Given the description of an element on the screen output the (x, y) to click on. 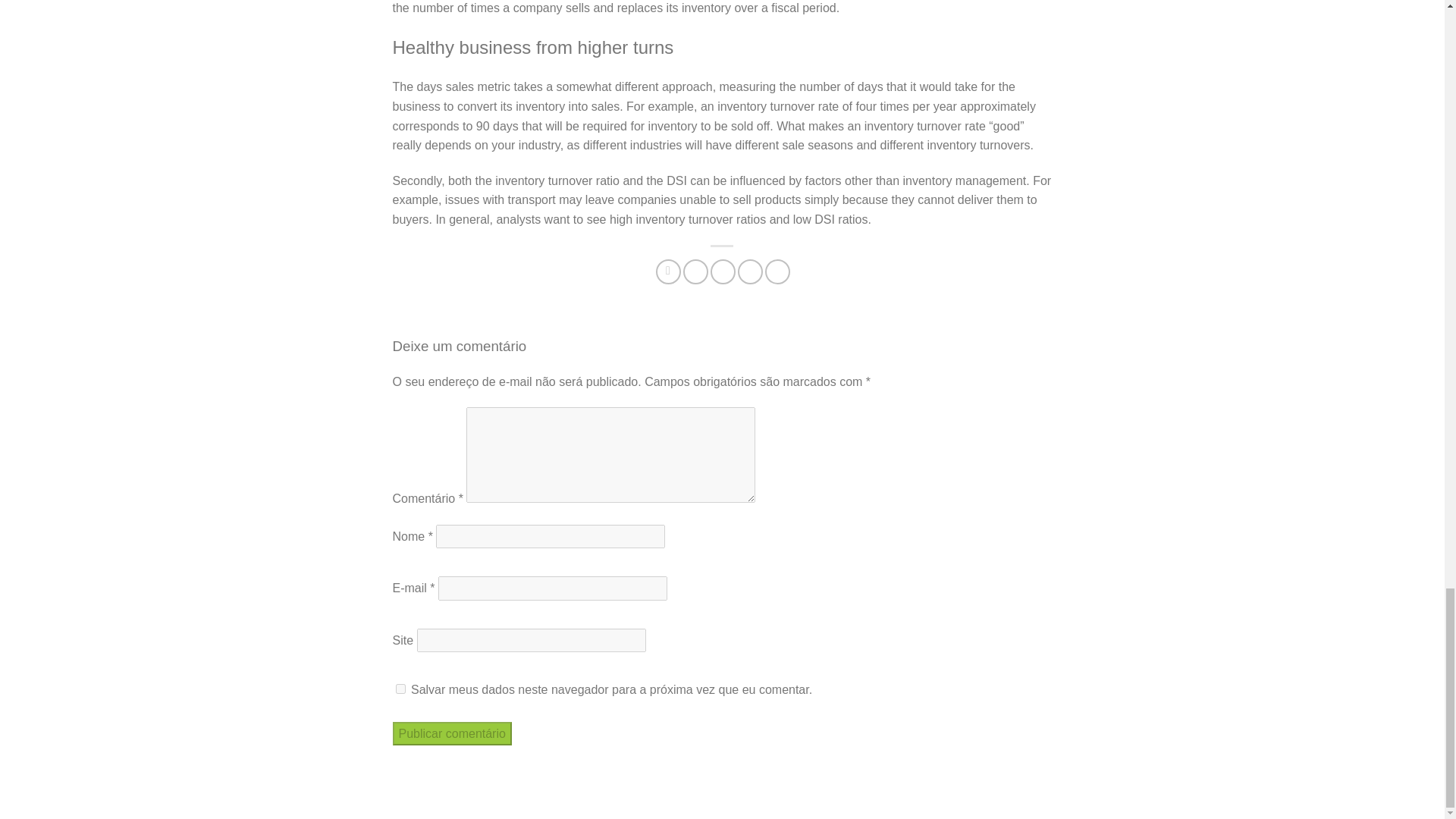
Share on LinkedIn (777, 271)
yes (401, 688)
Compartilhar no Twitter (694, 271)
Compartilhar no Facebook (668, 271)
Enviar por email para um amigo (722, 271)
Pin no Pinterest (750, 271)
